Given the description of an element on the screen output the (x, y) to click on. 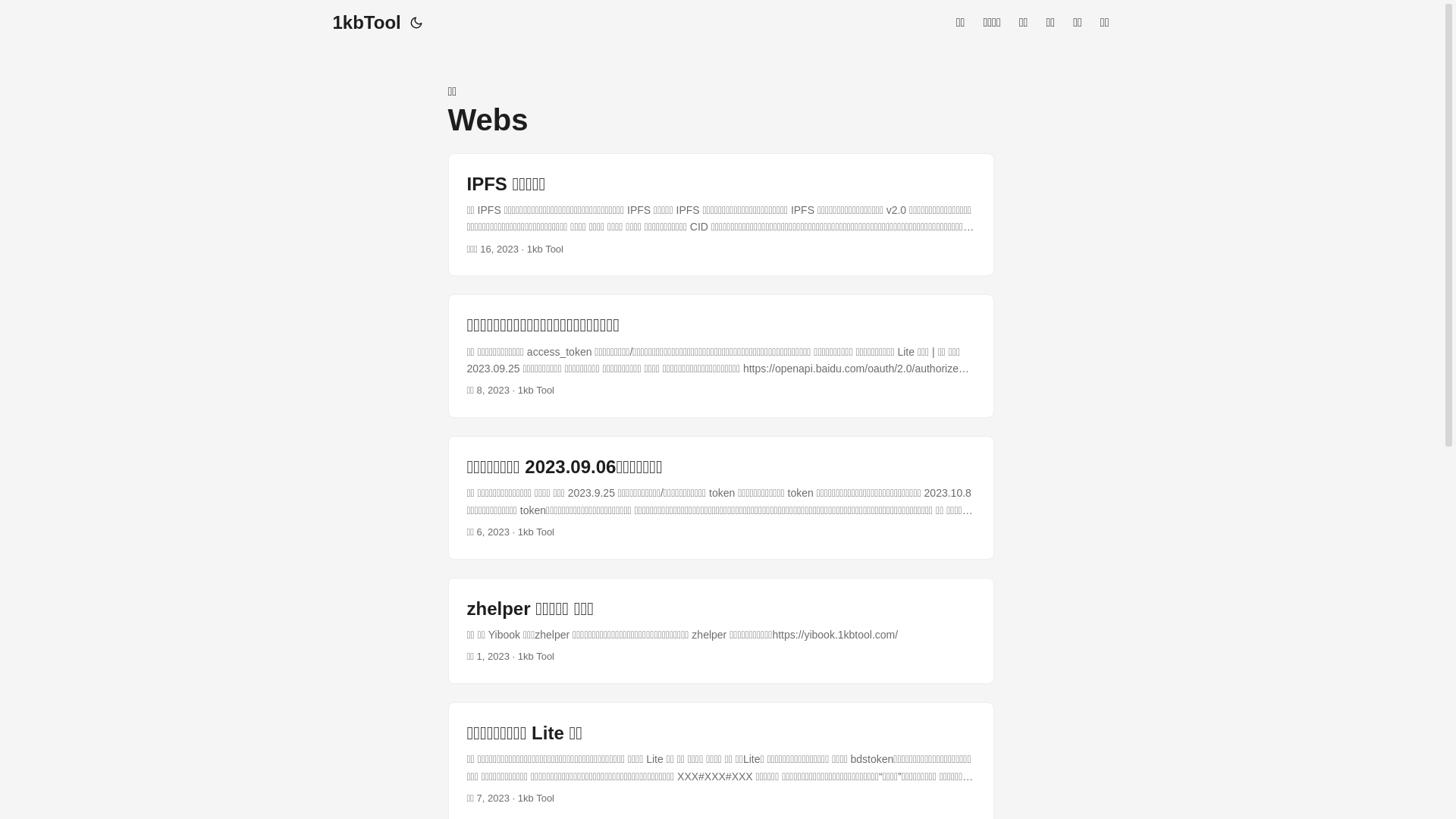
1kbTool Element type: text (366, 22)
(Alt + T) Element type: hover (416, 22)
